Given the description of an element on the screen output the (x, y) to click on. 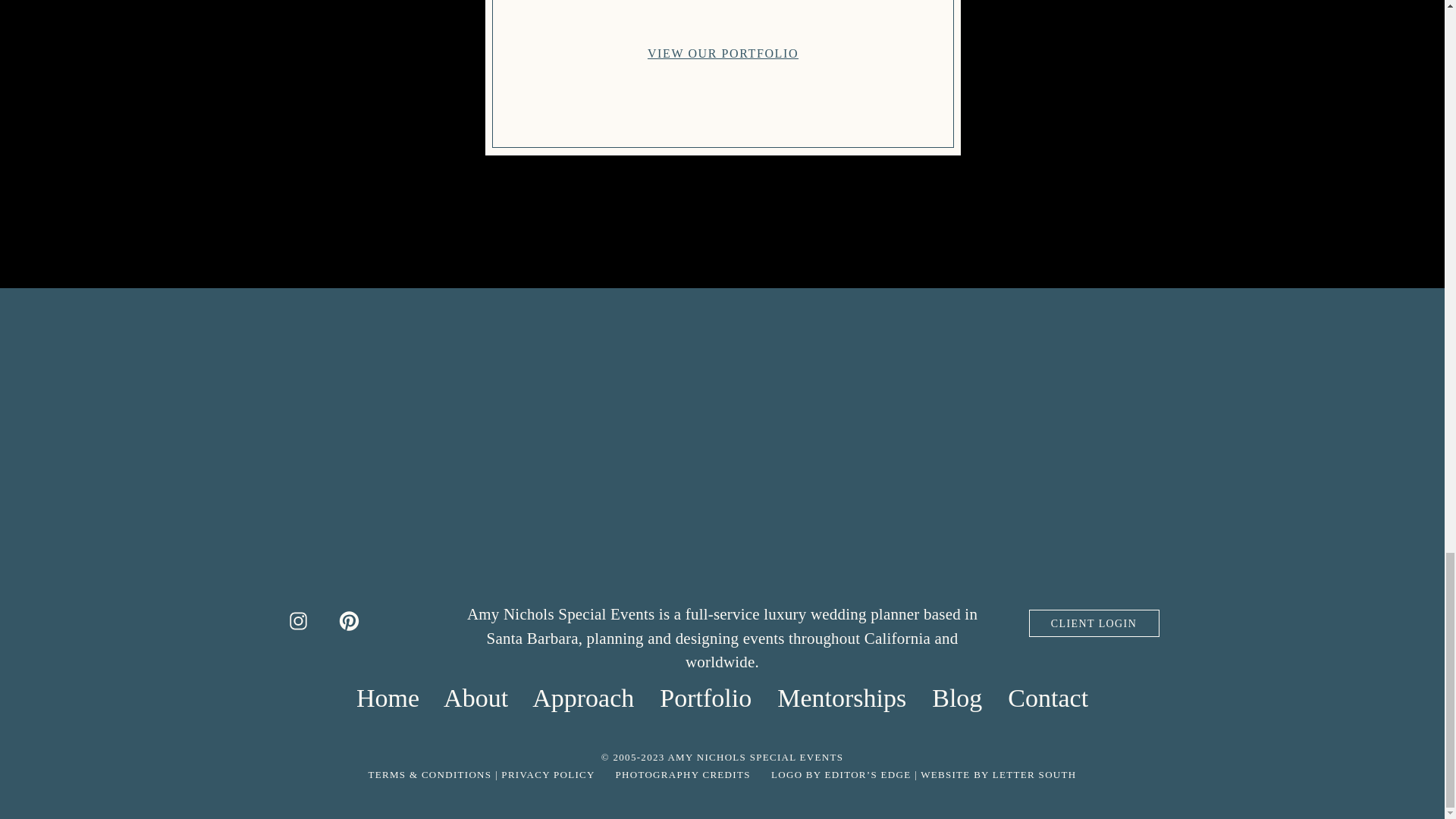
VIEW OUR PORTFOLIO (722, 52)
Share (389, 3)
Tweet (458, 3)
Pin (521, 3)
Share on Facebook (389, 3)
Tweet (458, 3)
Pin (521, 3)
